Given the description of an element on the screen output the (x, y) to click on. 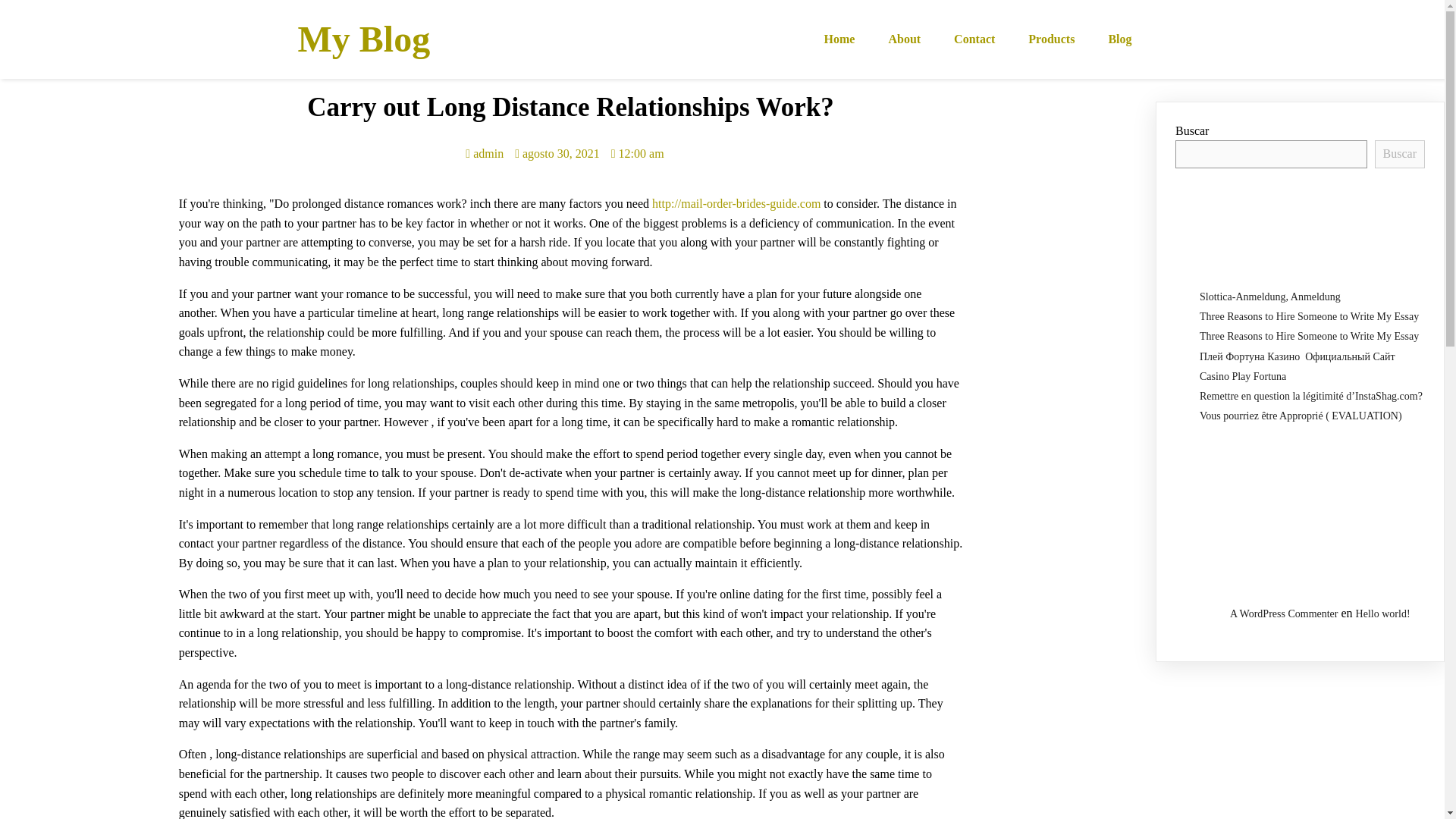
Home (839, 38)
Buscar (1399, 153)
Three Reasons to Hire Someone to Write My Essay (1308, 336)
My Blog (411, 39)
A WordPress Commenter (1284, 613)
12:00 am (637, 153)
Three Reasons to Hire Someone to Write My Essay (1308, 316)
admin (484, 153)
Products (1051, 38)
Hello world! (1382, 613)
